Given the description of an element on the screen output the (x, y) to click on. 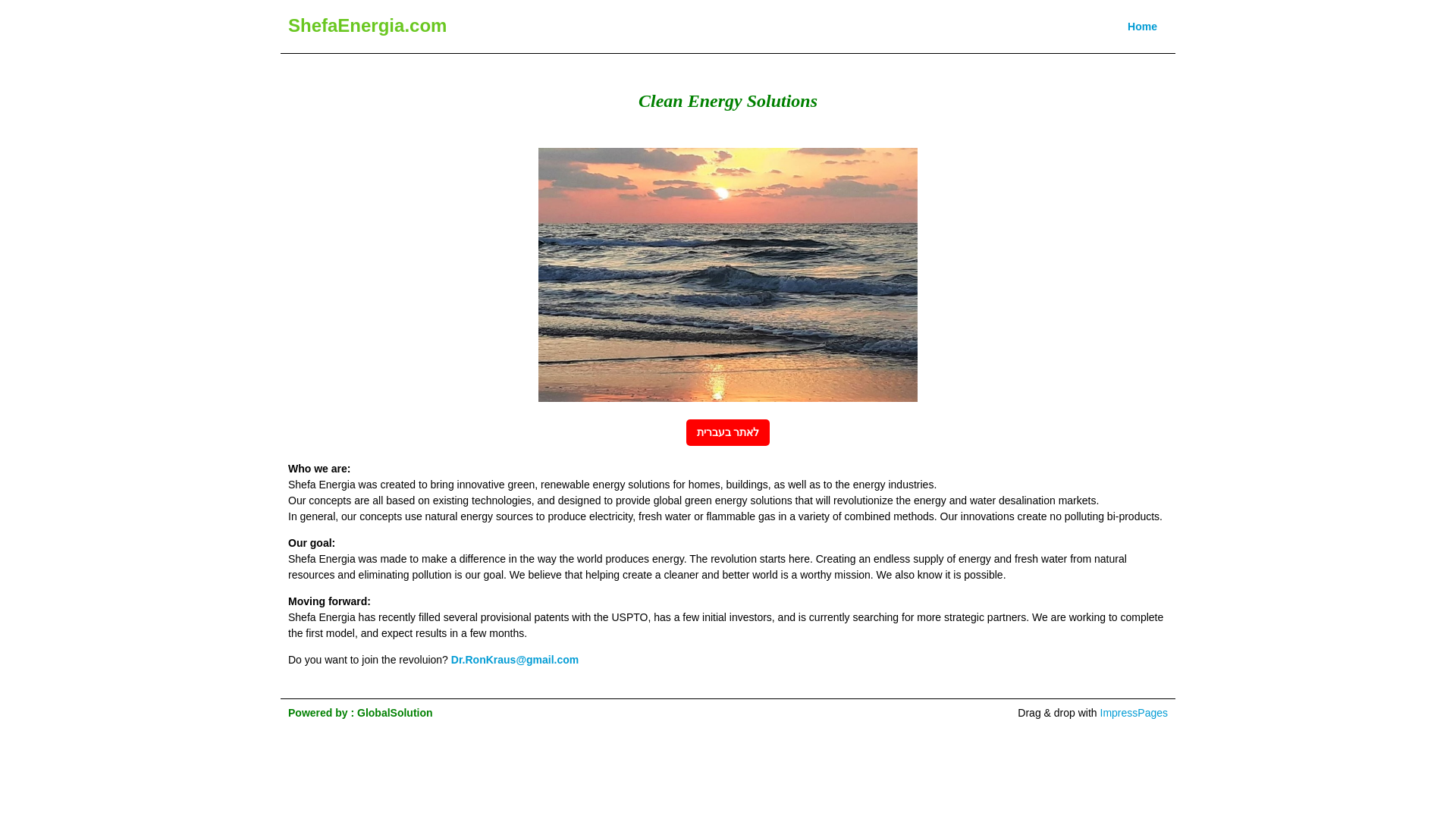
Home (1141, 26)
Home (1141, 26)
ShefaEnergia.com (367, 25)
ImpressPages (1133, 712)
